Given the description of an element on the screen output the (x, y) to click on. 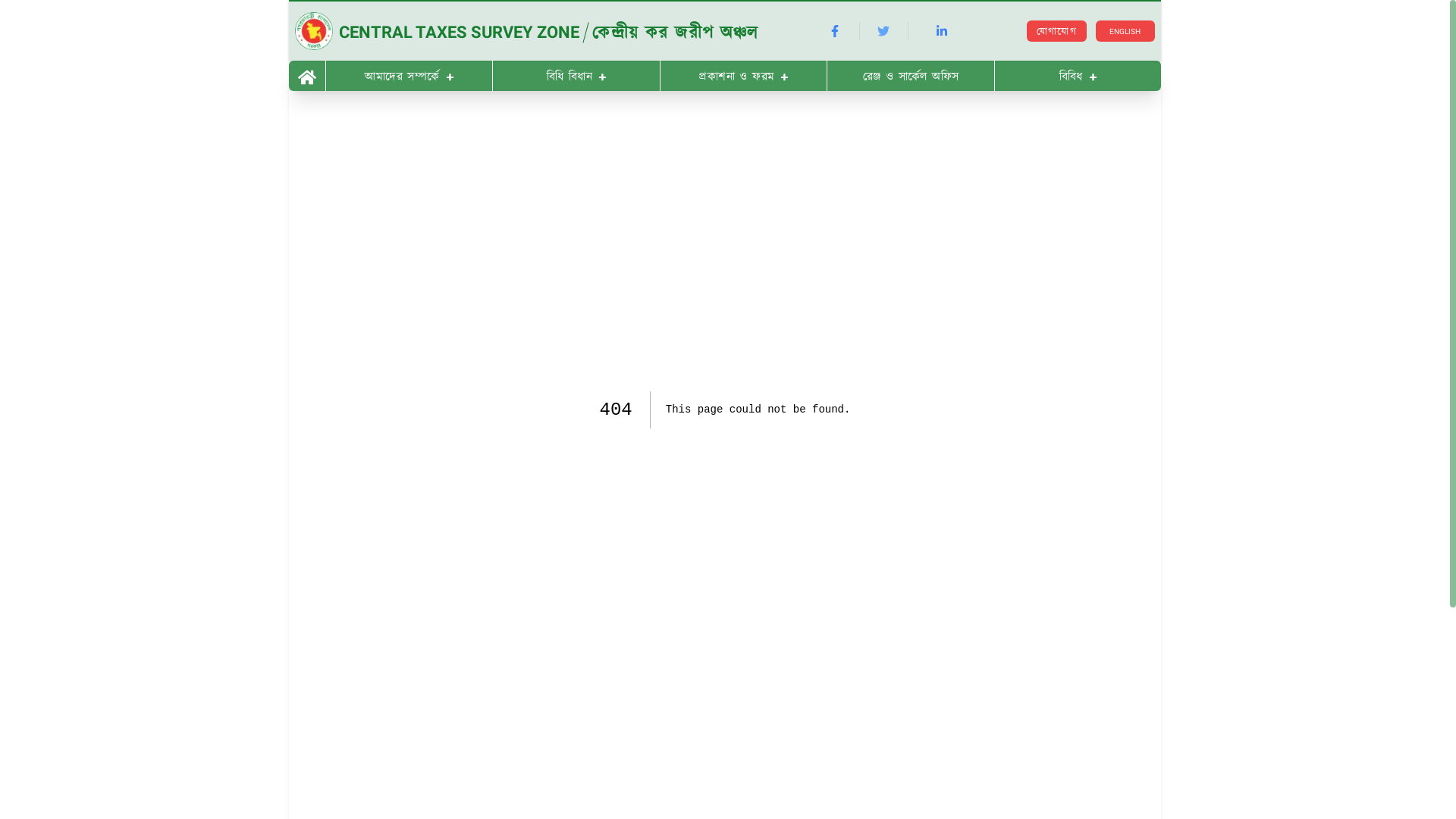
ENGLISH Element type: text (1124, 31)
